Given the description of an element on the screen output the (x, y) to click on. 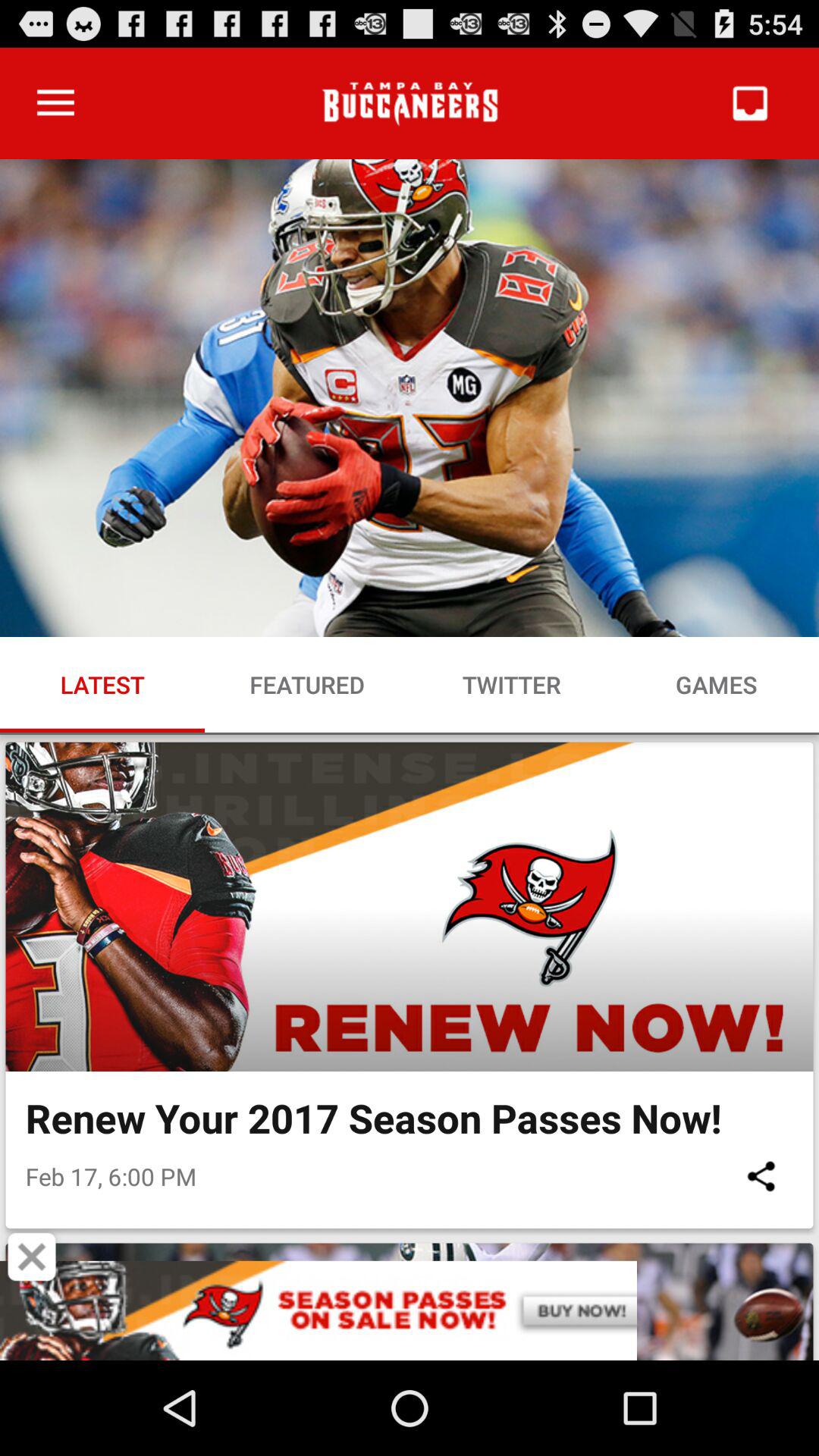
advertisement for season passes (409, 1310)
